Given the description of an element on the screen output the (x, y) to click on. 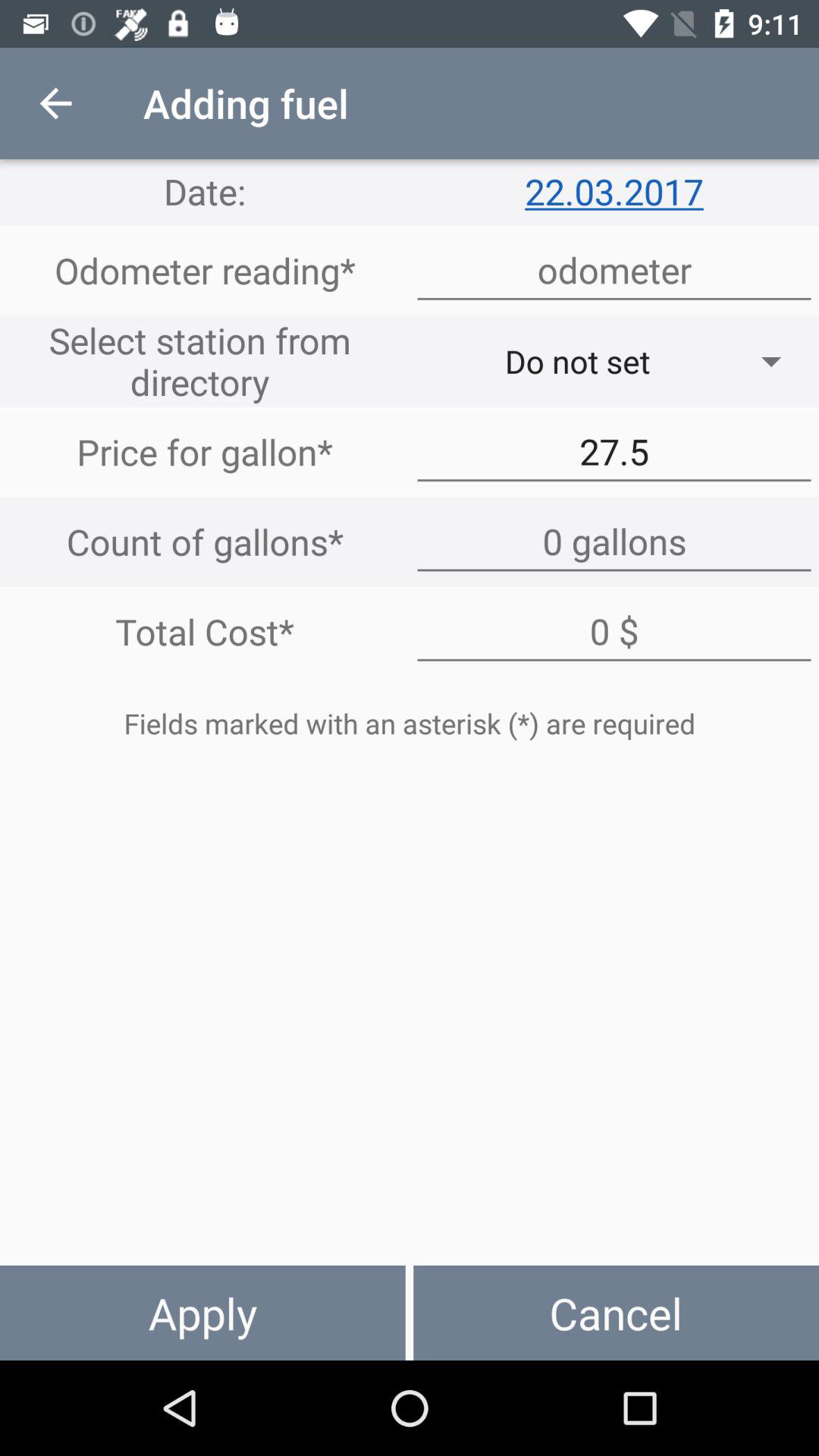
cost input field (614, 631)
